Given the description of an element on the screen output the (x, y) to click on. 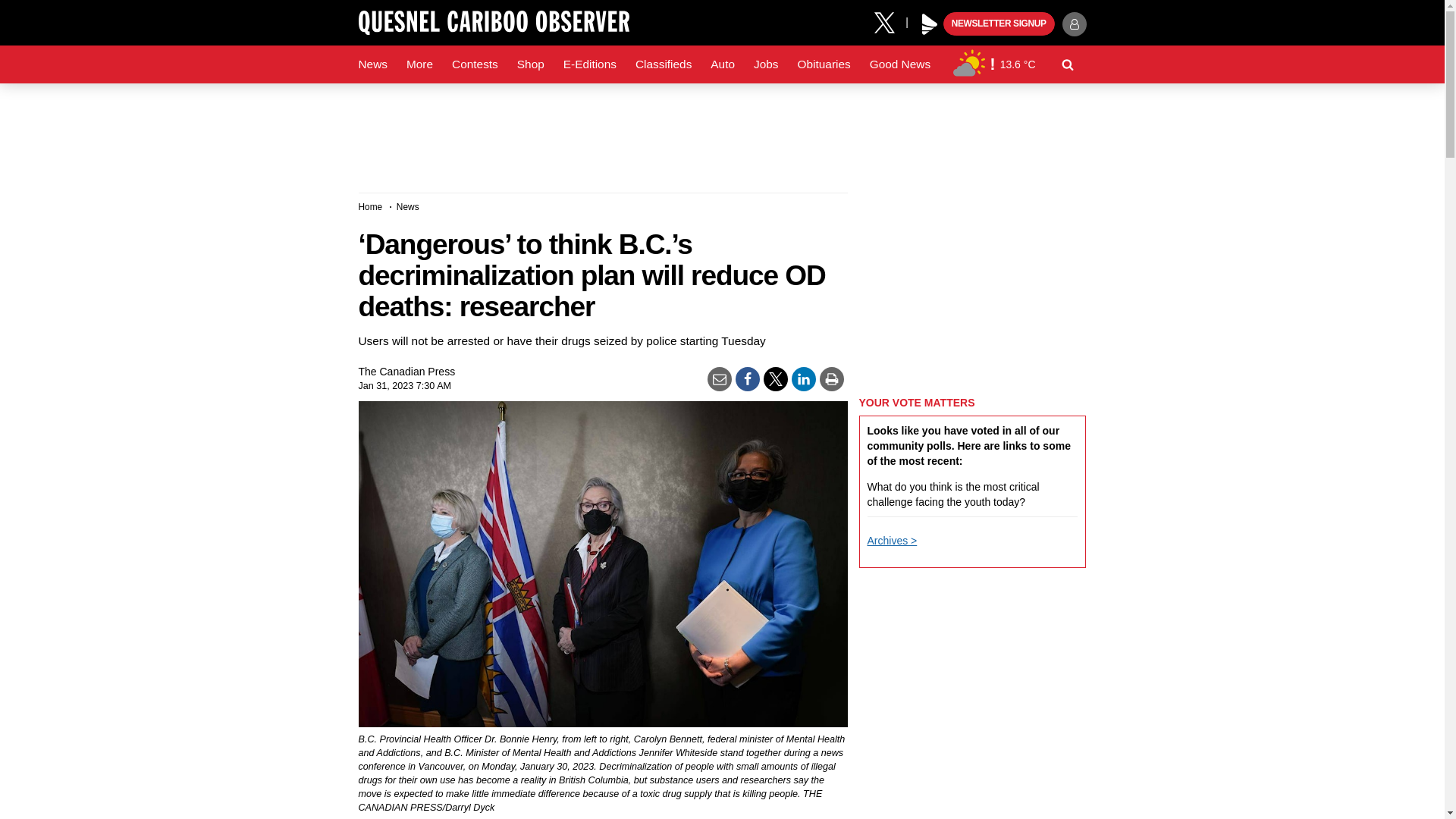
Play (929, 24)
News (372, 64)
X (889, 21)
Black Press Media (929, 24)
3rd party ad content (972, 803)
NEWSLETTER SIGNUP (998, 24)
